Given the description of an element on the screen output the (x, y) to click on. 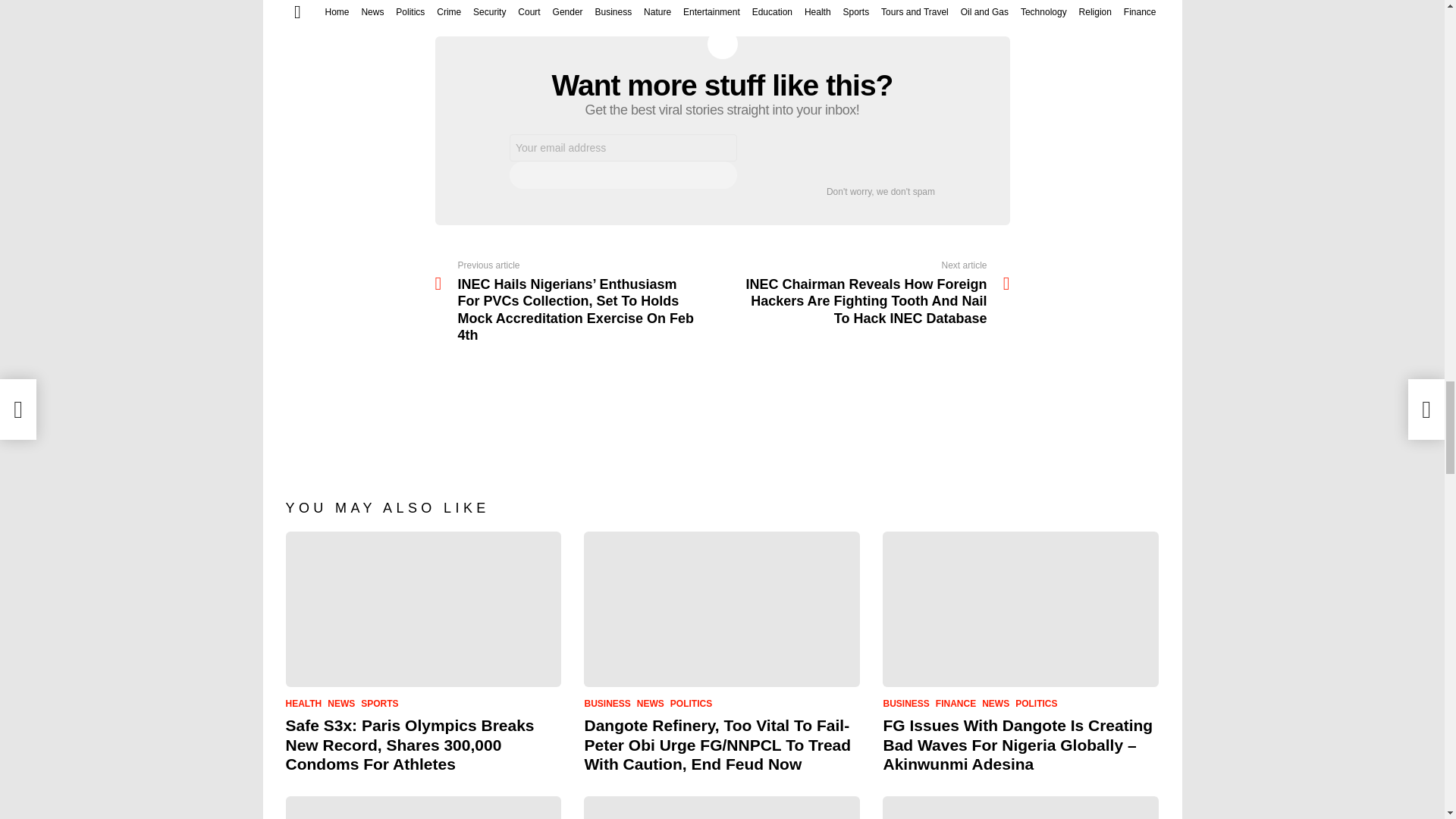
Sign up (622, 175)
